Given the description of an element on the screen output the (x, y) to click on. 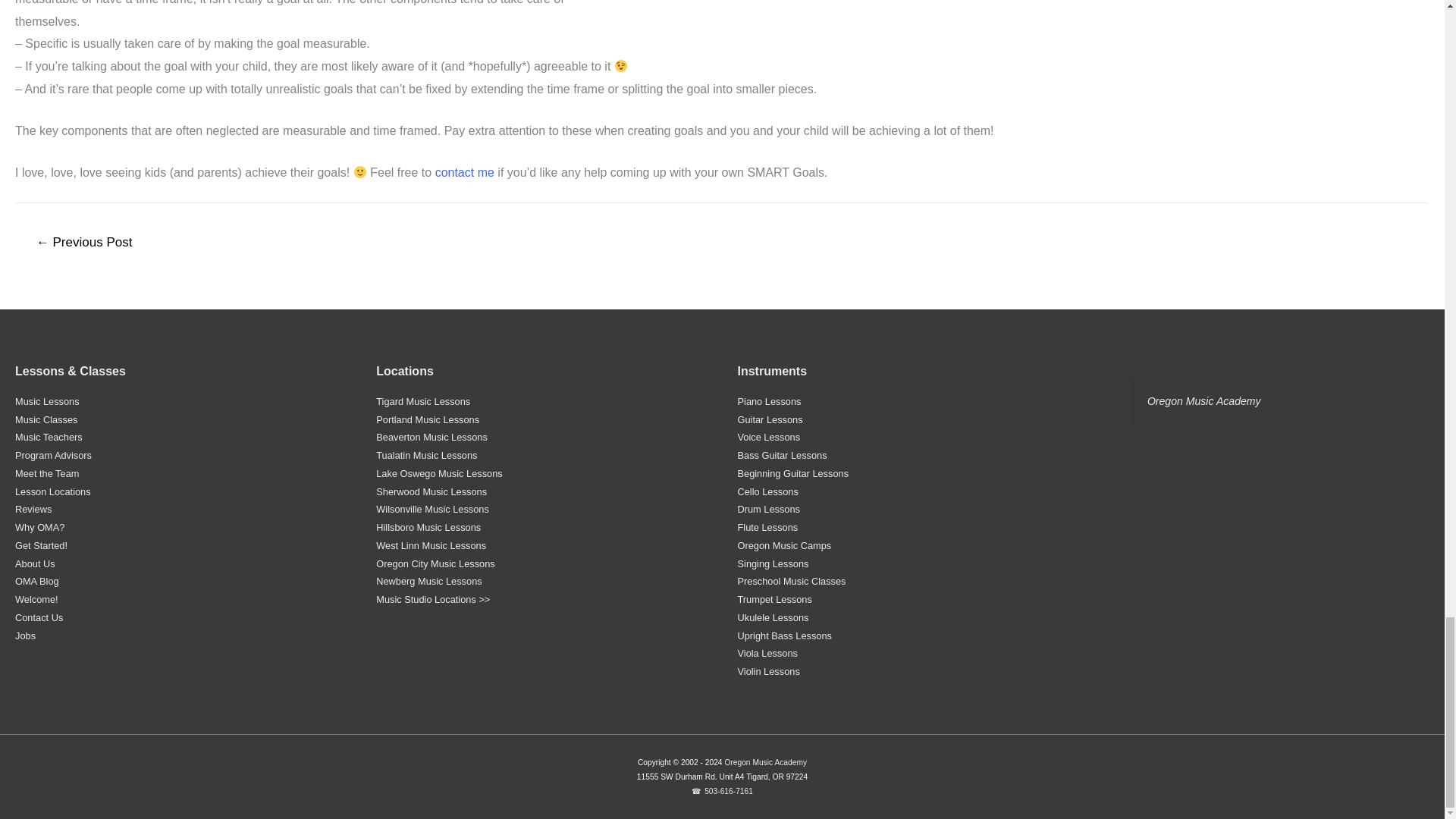
Music Lessons (47, 401)
About Oregon Music Academy (34, 563)
Begin Music Lessons (40, 545)
Wilsonville Music Lessons (432, 509)
West Linn Music Lessons (430, 545)
Music Teachers (48, 437)
Reviews of Music Teachers (32, 509)
Welcome! (36, 599)
Portland Music Lessons (427, 419)
Contact Us (38, 617)
